Given the description of an element on the screen output the (x, y) to click on. 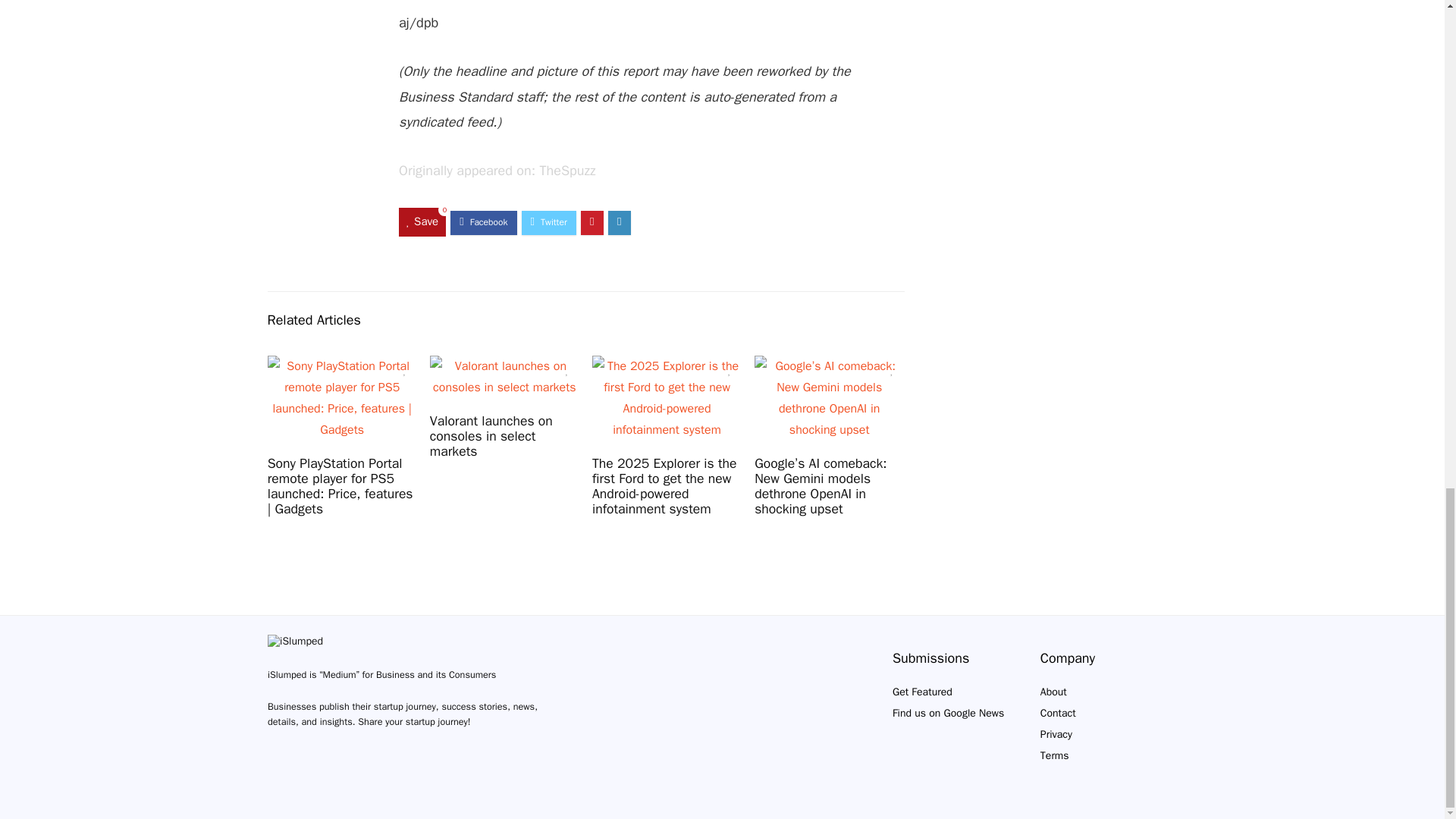
Valorant launches on consoles in select markets (491, 435)
Find us on Google News (948, 712)
About (1054, 691)
TheSpuzz (567, 170)
Get Featured (922, 691)
